Given the description of an element on the screen output the (x, y) to click on. 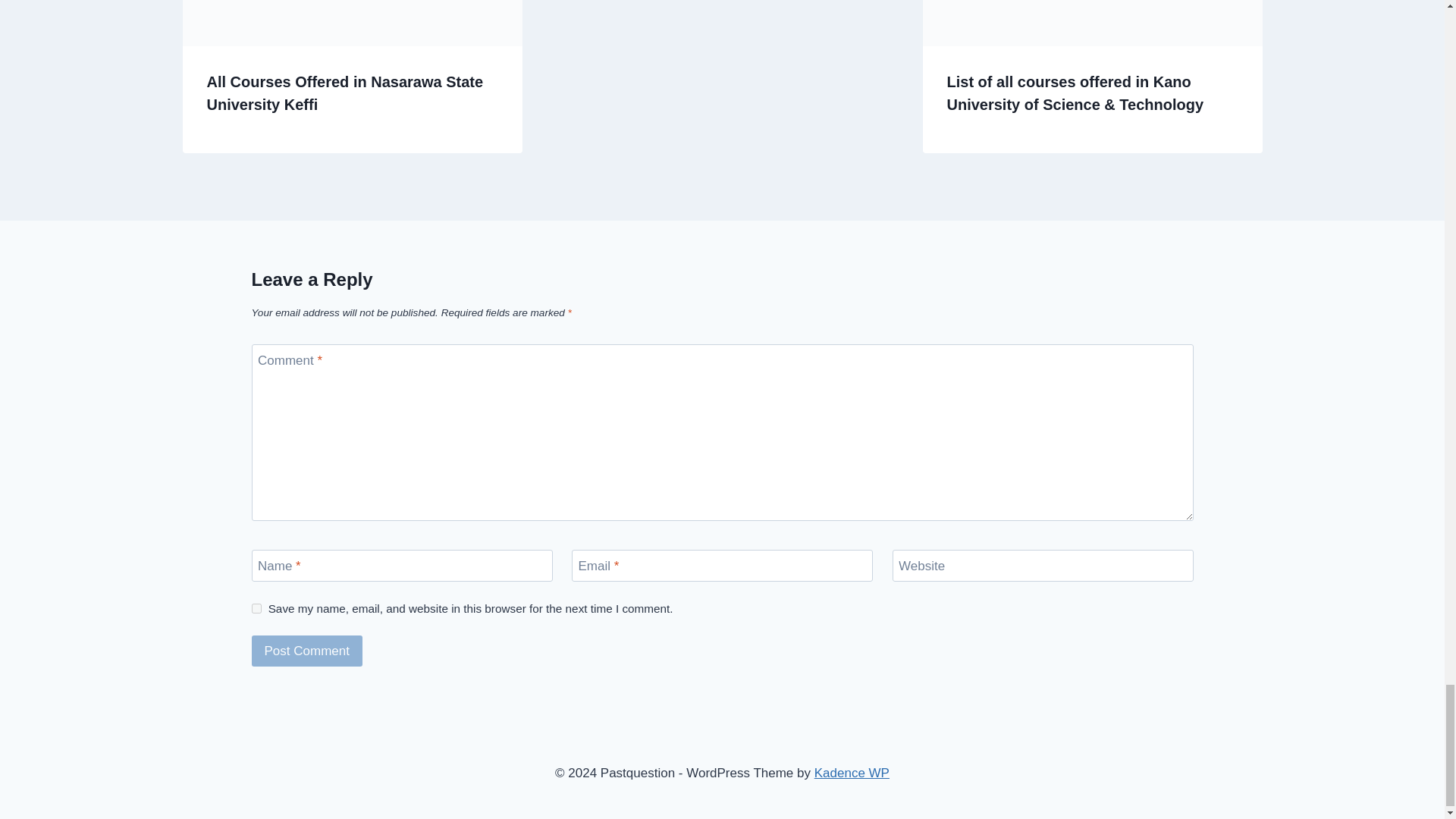
Post Comment (306, 650)
All Courses Offered in Nasarawa State University Keffi (344, 93)
yes (256, 608)
All Courses Offered in Nasarawa State University Keffi 6 (351, 22)
